Given the description of an element on the screen output the (x, y) to click on. 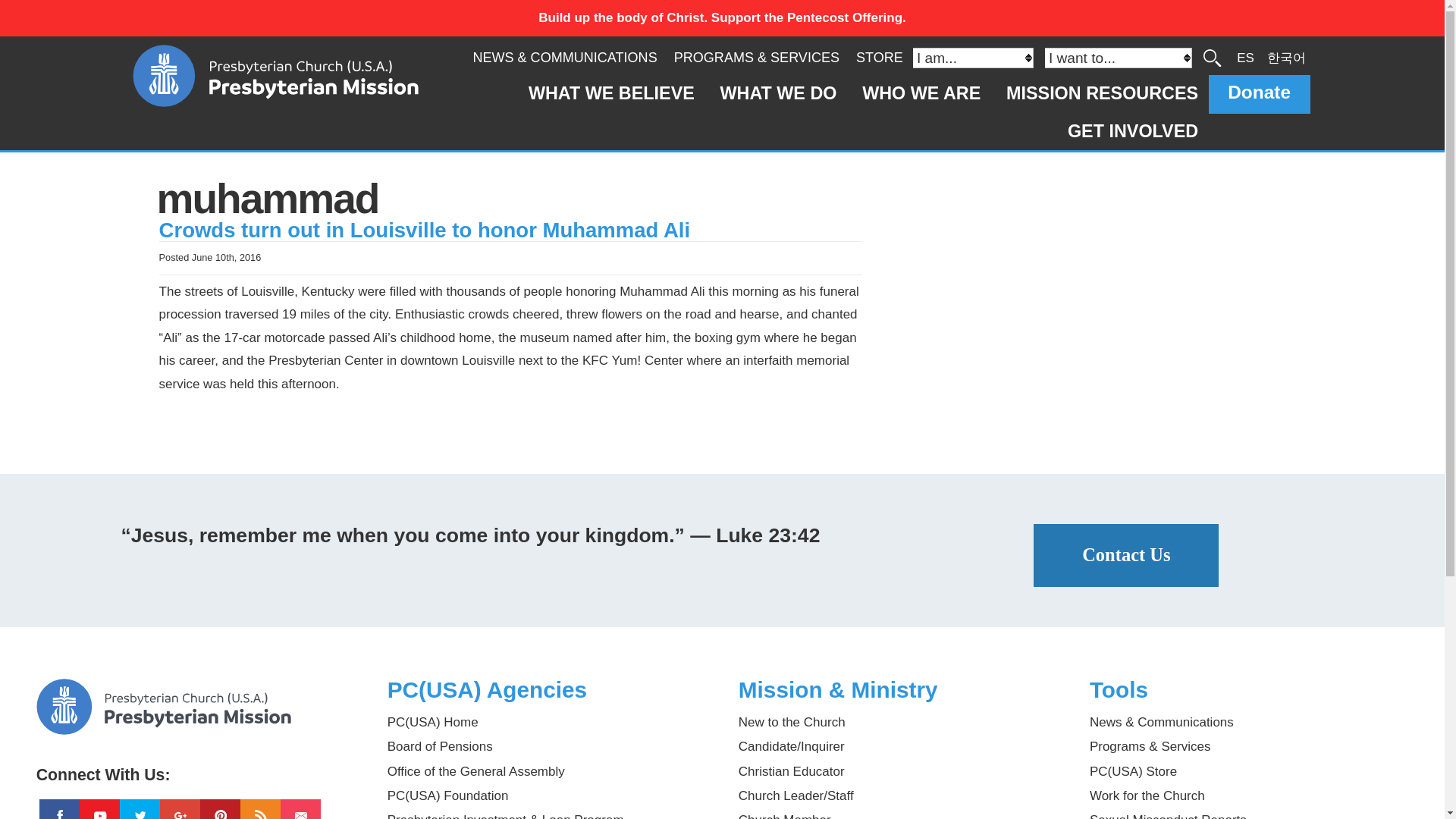
Build up the body of Christ. Support the Pentecost Offering. (721, 17)
Crowds turn out in Louisville to honor Muhammad Ali (424, 229)
STORE (879, 57)
Follow Us on Social Media (195, 748)
